Given the description of an element on the screen output the (x, y) to click on. 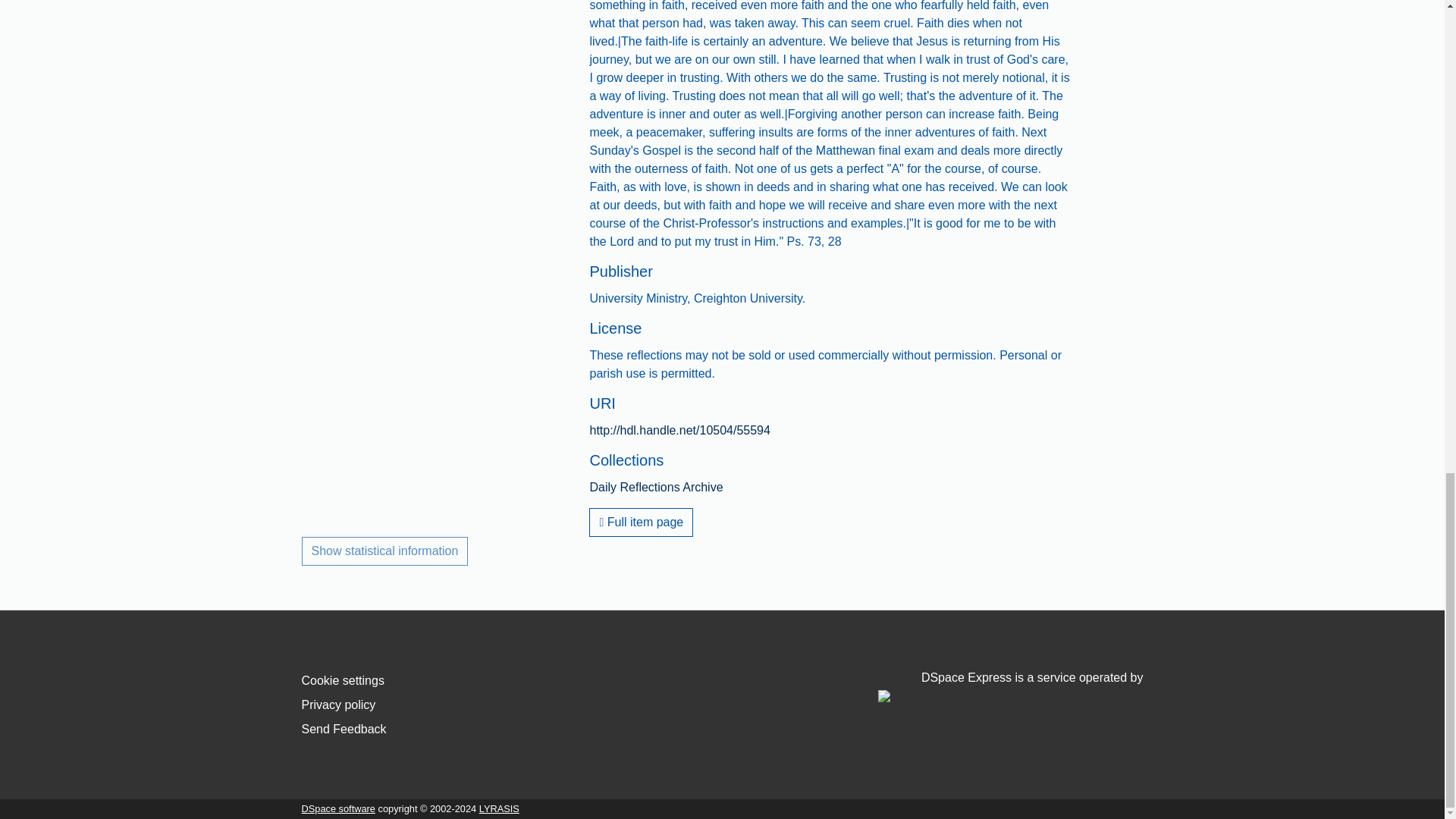
Full item page (641, 522)
LYRASIS (499, 808)
Show statistical information (384, 551)
Privacy policy (338, 704)
DSpace Express is a service operated by (1009, 686)
Cookie settings (342, 680)
DSpace software (338, 808)
Daily Reflections Archive (655, 486)
Send Feedback (344, 728)
